Given the description of an element on the screen output the (x, y) to click on. 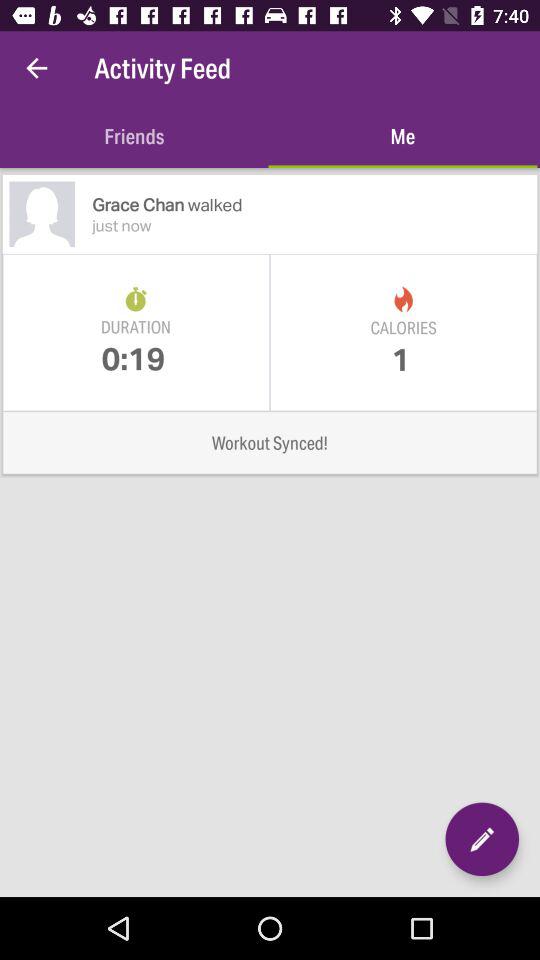
launch item above just now (314, 204)
